Given the description of an element on the screen output the (x, y) to click on. 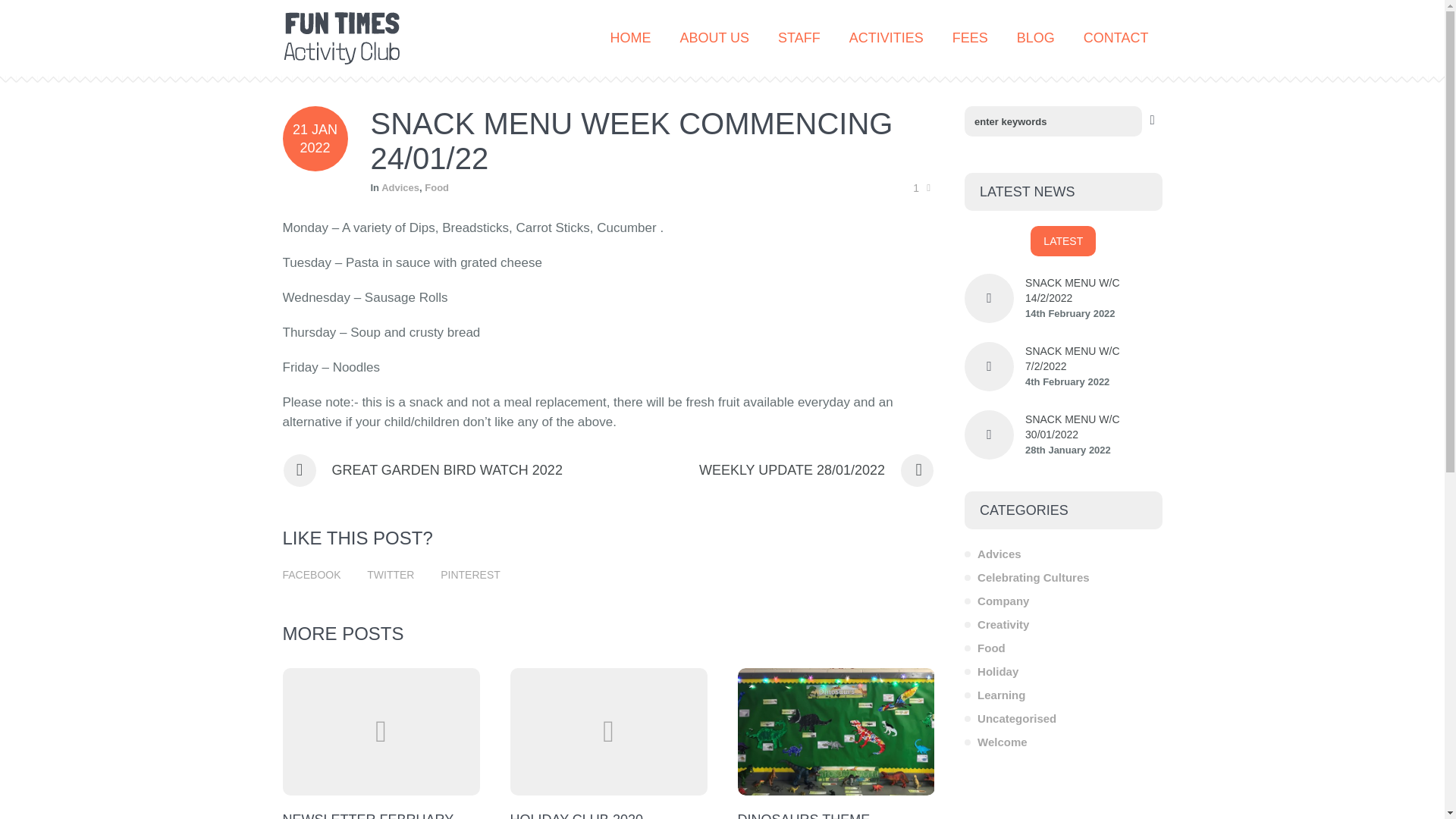
TWITTER (389, 574)
Celebrating Cultures (1026, 576)
Creativity (996, 624)
Welcome (995, 741)
HOLIDAY CLUB 2020 (575, 815)
PINTEREST (470, 574)
Holiday Club 2020 (607, 731)
Dinosaurs Theme (835, 731)
14th February 2022 (1093, 313)
ACTIVITIES (887, 38)
CONTACT (1115, 38)
GREAT GARDEN BIRD WATCH 2022 (422, 469)
Holiday (990, 671)
28th January 2022 (1093, 450)
21st January 2022 (314, 138)
